Given the description of an element on the screen output the (x, y) to click on. 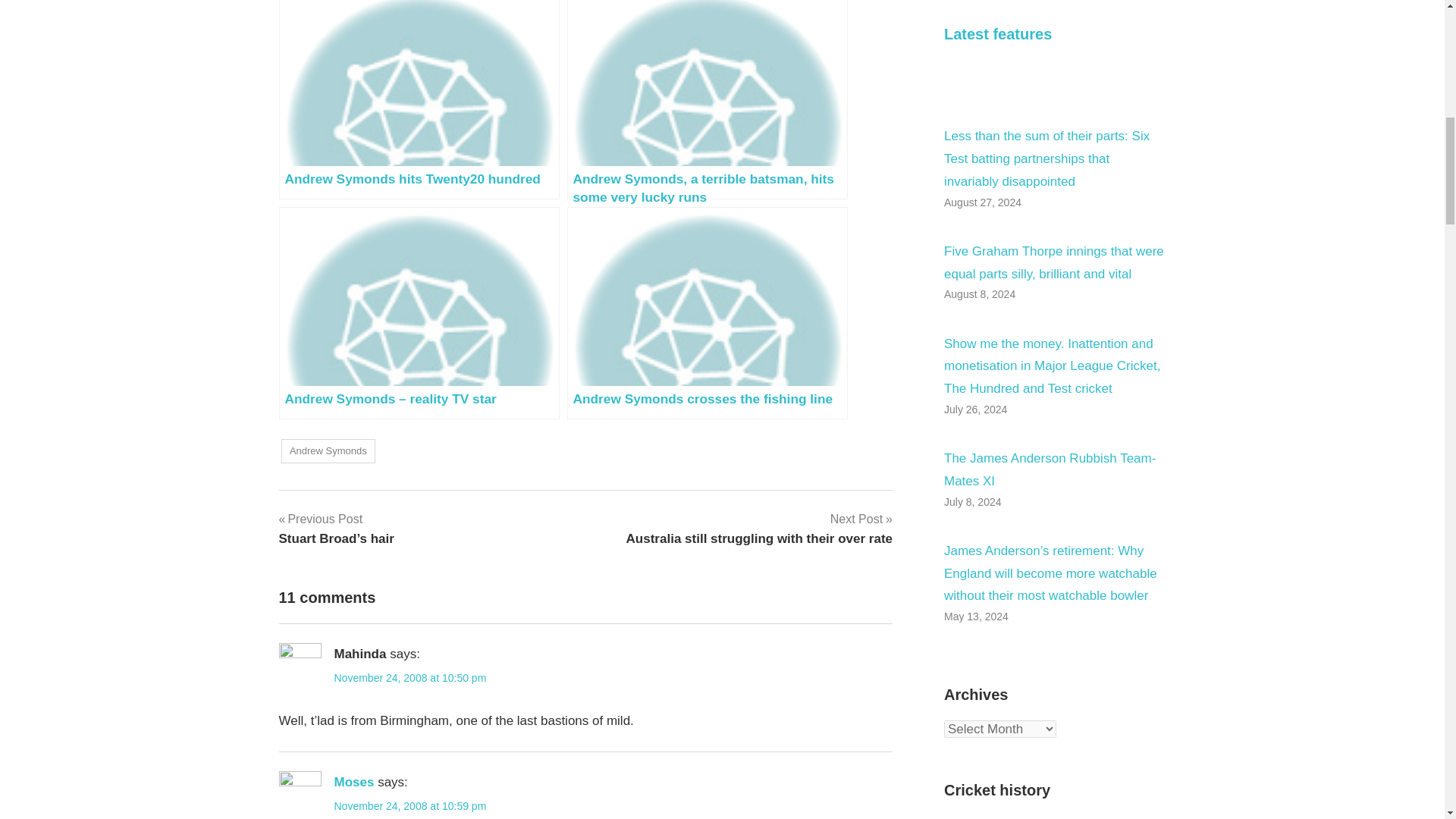
Andrew Symonds (328, 451)
Andrew Symonds hits Twenty20 hundred (419, 99)
Andrew Symonds crosses the fishing line (759, 527)
Andrew Symonds crosses the fishing line (707, 313)
November 24, 2008 at 10:59 pm (707, 313)
Andrew Symonds hits Twenty20 hundred (409, 806)
Moses (419, 99)
